Given the description of an element on the screen output the (x, y) to click on. 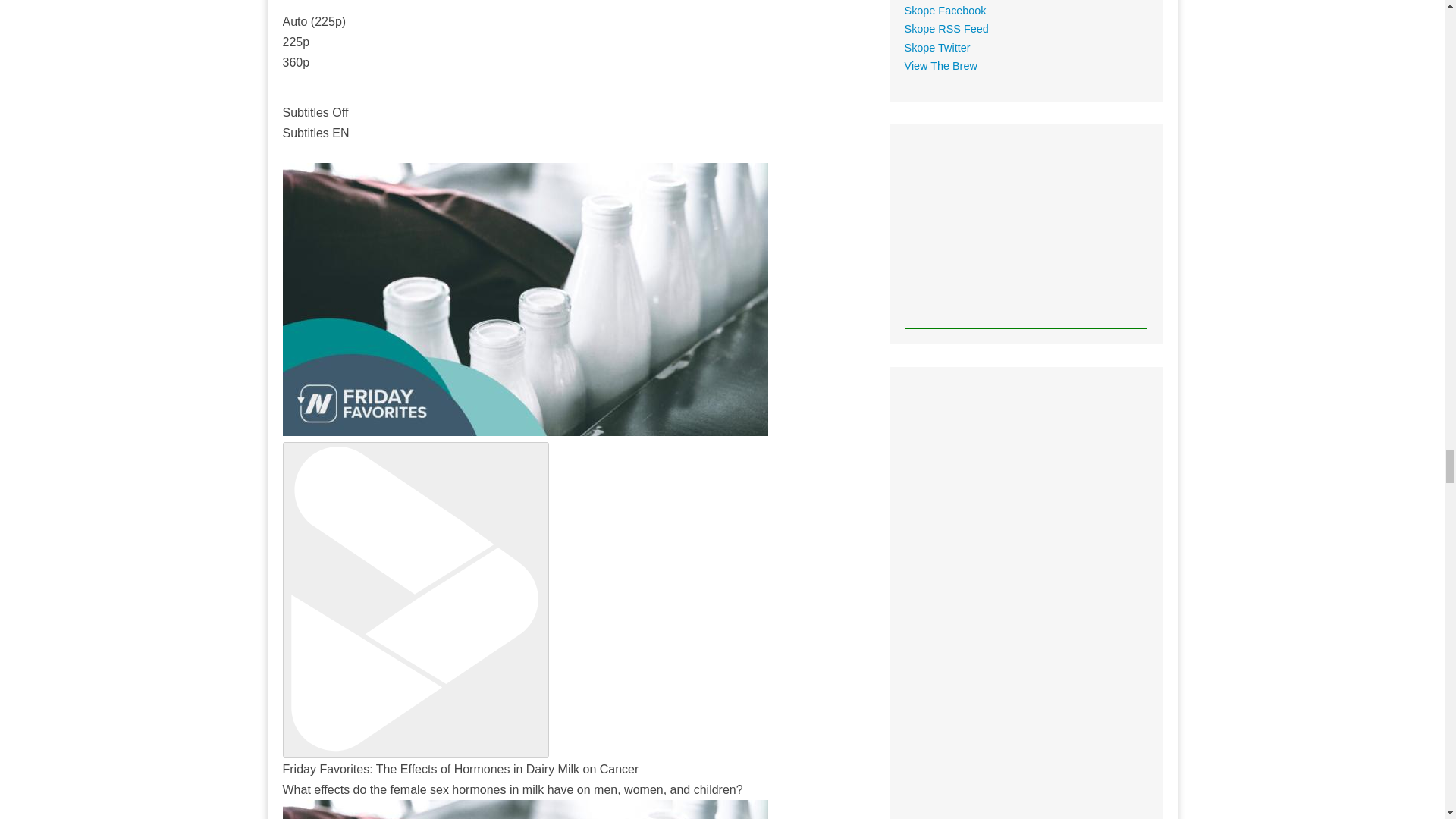
Skopemag.com RSS Feed (946, 28)
